Given the description of an element on the screen output the (x, y) to click on. 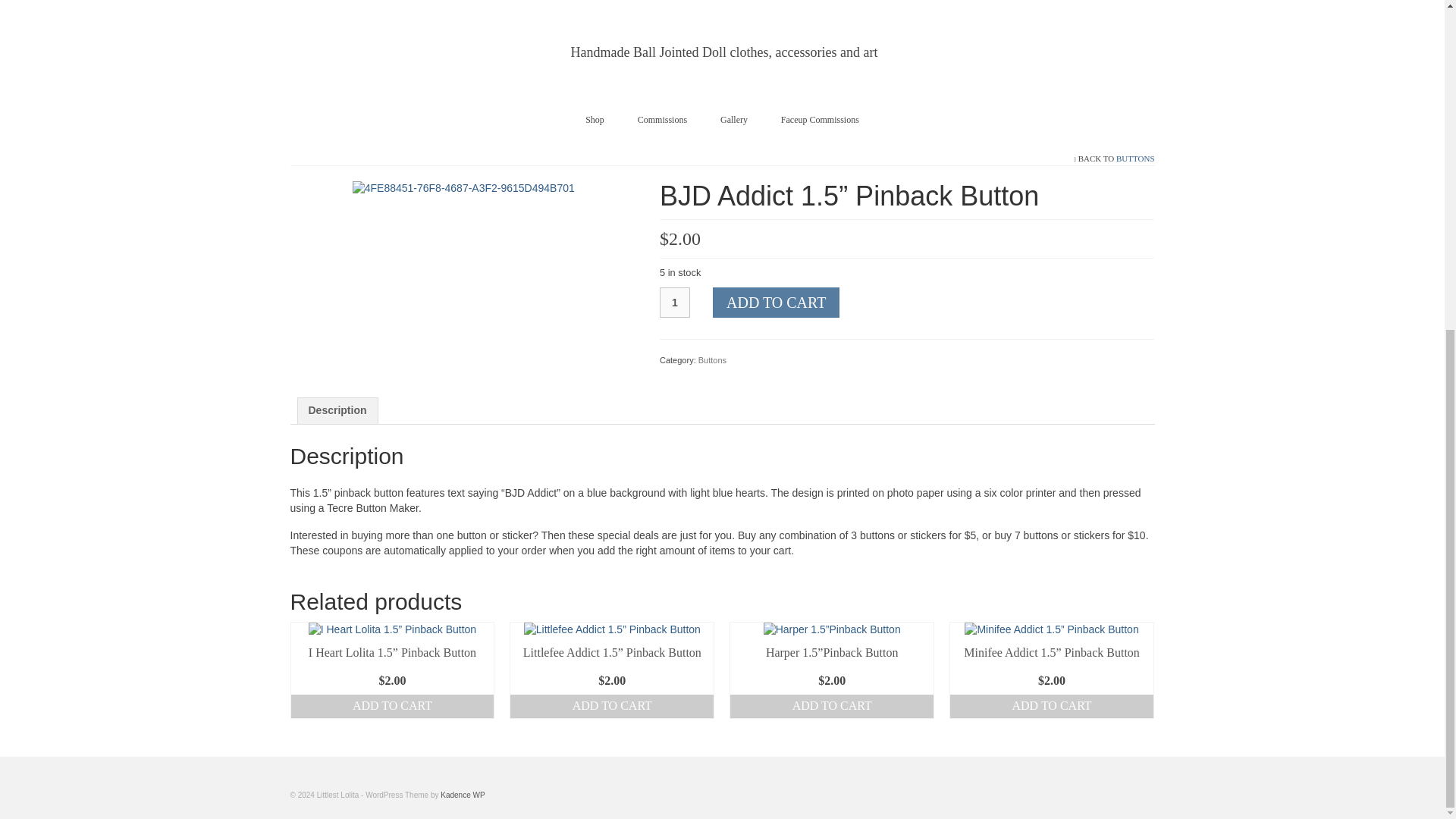
Buttons (712, 359)
BUTTONS (1135, 157)
ADD TO CART (776, 302)
Gallery (733, 119)
4FE88451-76F8-4687-A3F2-9615D494B701 (463, 187)
Shop (595, 119)
Commissions (662, 119)
1 (674, 302)
ADD TO CART (612, 706)
ADD TO CART (393, 706)
